Given the description of an element on the screen output the (x, y) to click on. 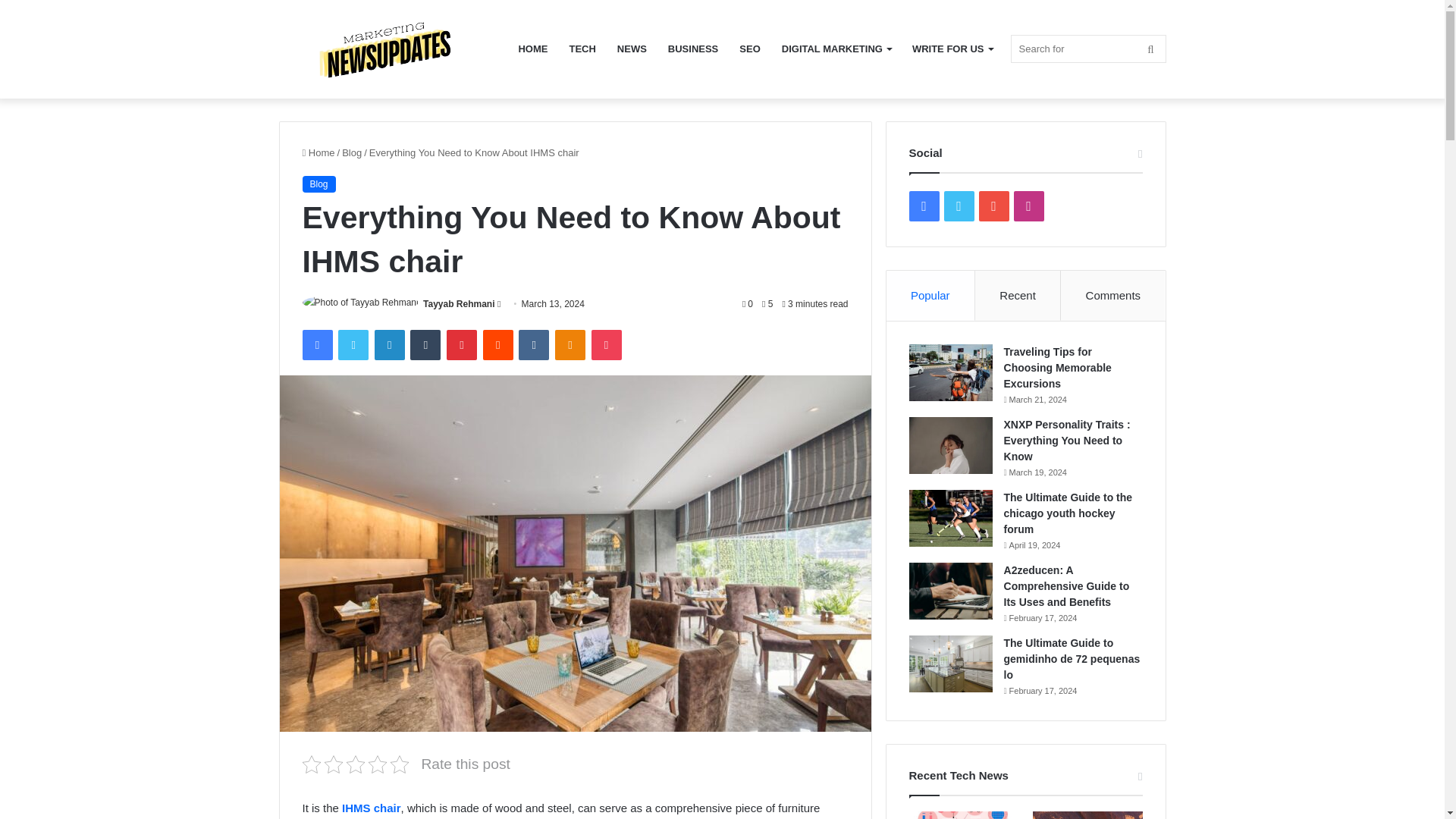
VKontakte (533, 345)
IHMS chair (371, 807)
Search for (1088, 49)
Reddit (498, 345)
Tumblr (425, 345)
Pinterest (461, 345)
Blog (317, 184)
WRITE FOR US (952, 49)
Twitter (352, 345)
Reddit (498, 345)
DIGITAL MARKETING (836, 49)
Blog (351, 152)
marketingnewsupdates (392, 49)
Home (317, 152)
LinkedIn (389, 345)
